Given the description of an element on the screen output the (x, y) to click on. 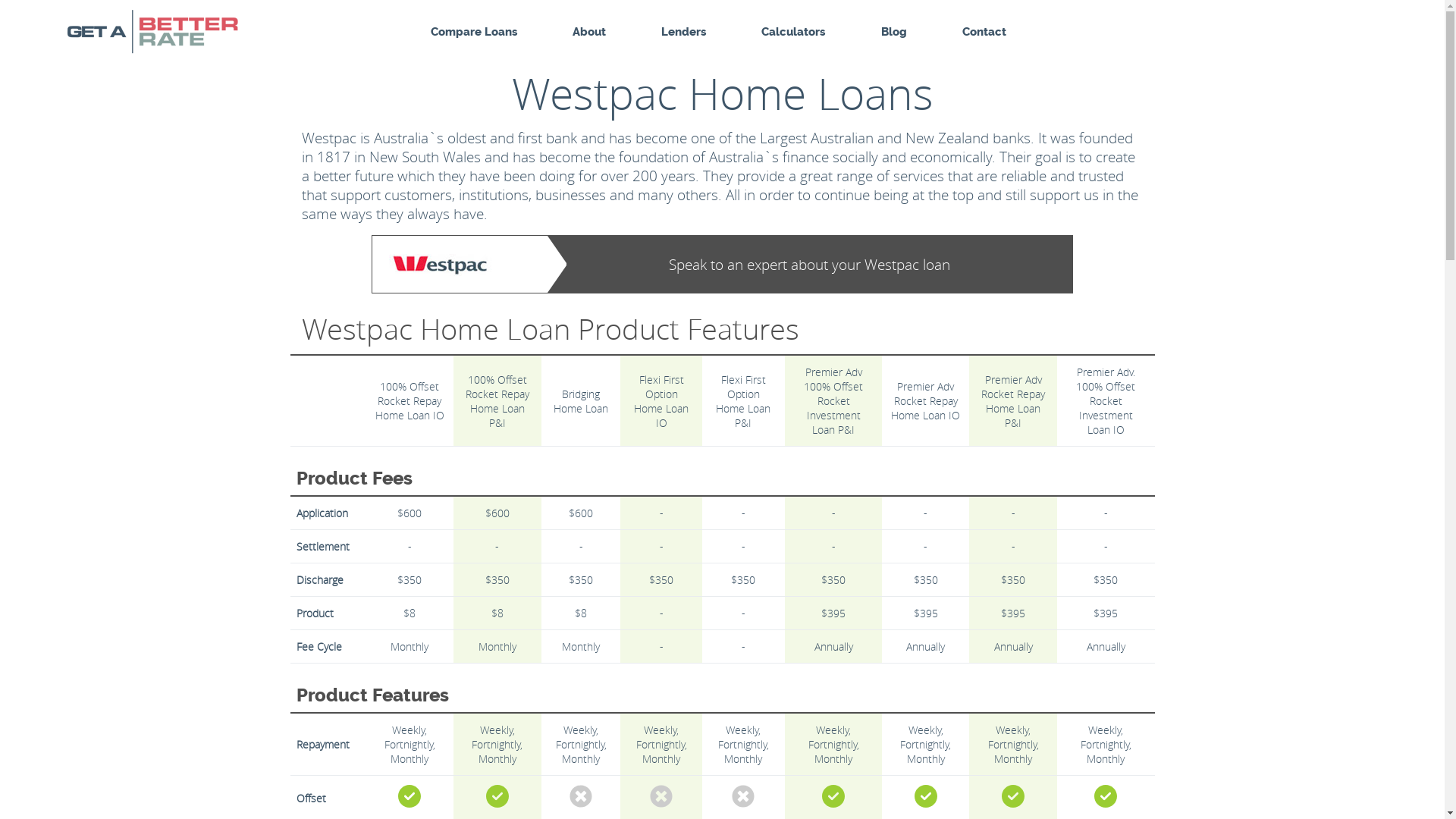
Contact Element type: text (984, 31)
Compare Loans Element type: text (473, 31)
Calculators Element type: text (793, 31)
About Element type: text (588, 31)
Get a Better Rate on your Home Loan Element type: hover (180, 31)
Blog Element type: text (893, 31)
Speak to an expert about your Westpac loan Element type: text (722, 264)
Lenders Element type: text (683, 31)
